Given the description of an element on the screen output the (x, y) to click on. 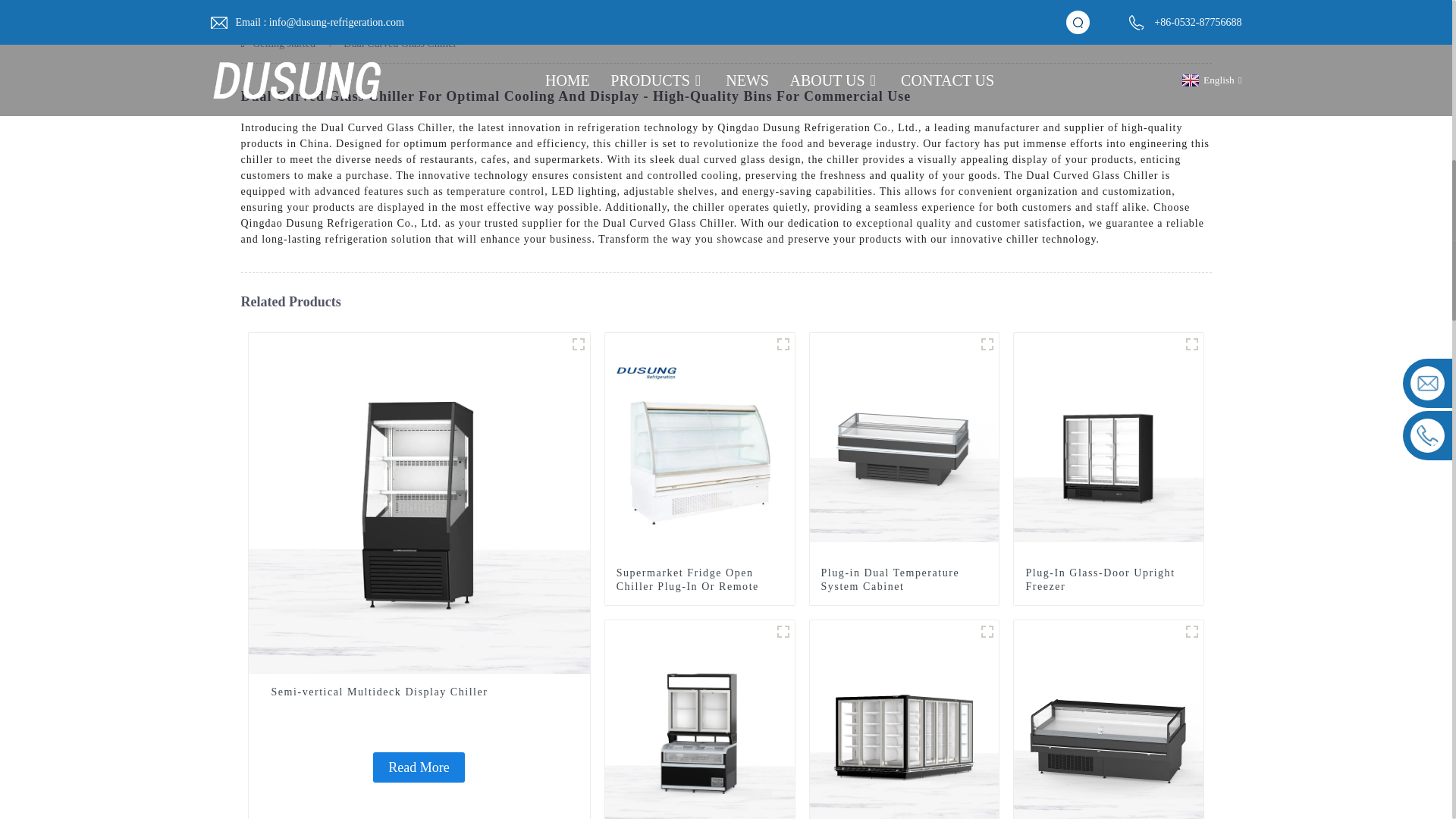
Remote Glass-Door Upright Freezer (903, 733)
Semi-vertical Multideck Display Chiller (418, 501)
Plug-In Glass-Door Upright Freezer (1108, 579)
Multi Deck Display Chiller (578, 343)
Semi-vertical Multideck Display Chiller (418, 692)
Plug-In Glass-Door Upright Freezer (1108, 446)
Supermarket Fridge Open Chiller Plug-In Or Remote (699, 579)
Semi-vertical Multideck Display Chiller (418, 692)
Plug-in Dual Temperature System Cabinet (903, 446)
Getting started (283, 43)
Plug-in Dual Temperature System Cabinet (904, 579)
Supermarket Fridge Open Chiller Plug-In Or Remote (699, 579)
Plug-In Glass-Door Upright Freezer (1108, 579)
Supermarket Fridge Open Chiller Plug-In Or Remote (699, 446)
Read More (418, 767)
